Given the description of an element on the screen output the (x, y) to click on. 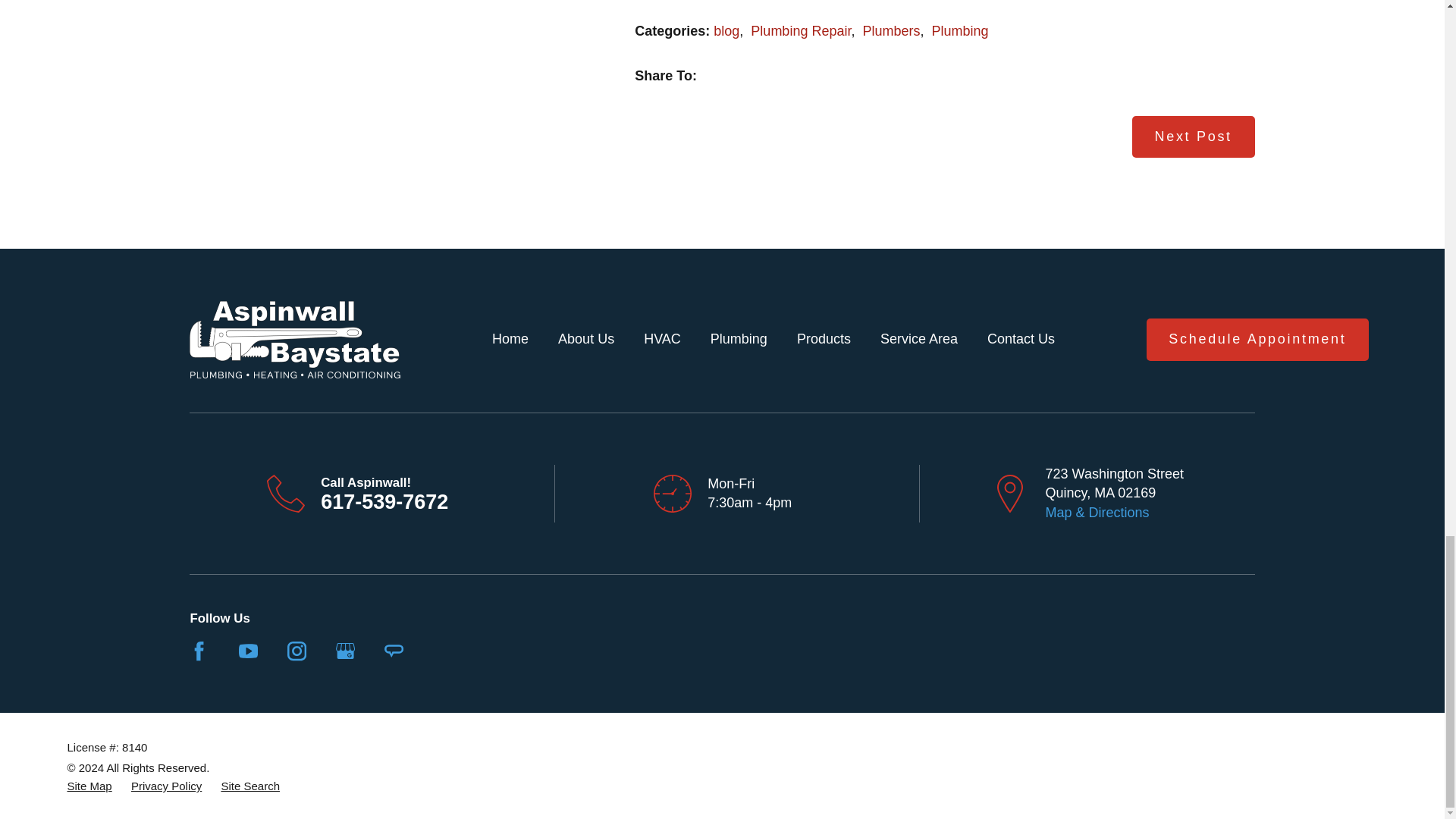
Home (294, 339)
Facebook (198, 650)
YouTube (247, 650)
